Given the description of an element on the screen output the (x, y) to click on. 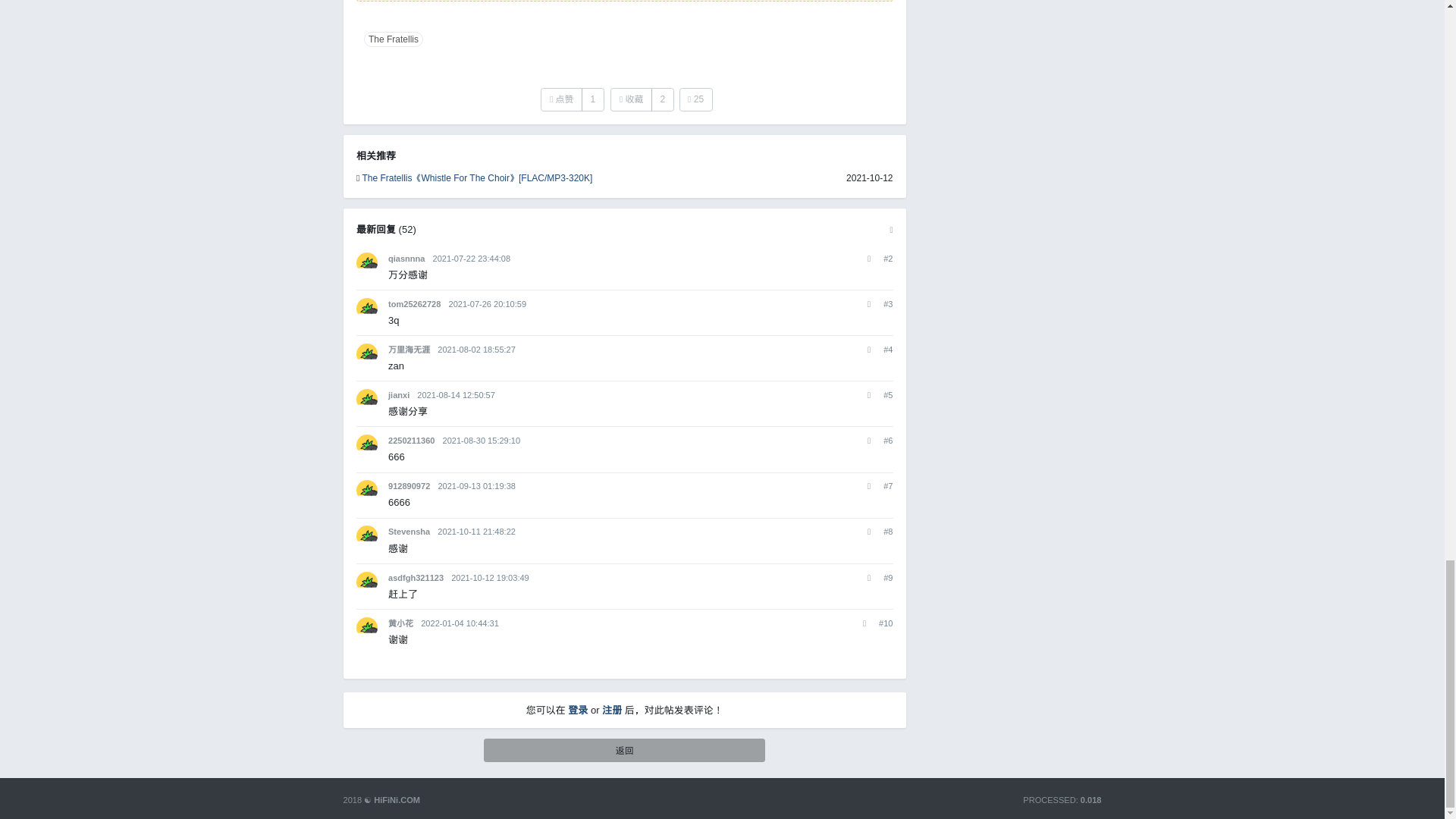
1 (592, 99)
qiasnnna (406, 257)
The Fratellis (393, 38)
 25 (696, 99)
2 (662, 99)
